Given the description of an element on the screen output the (x, y) to click on. 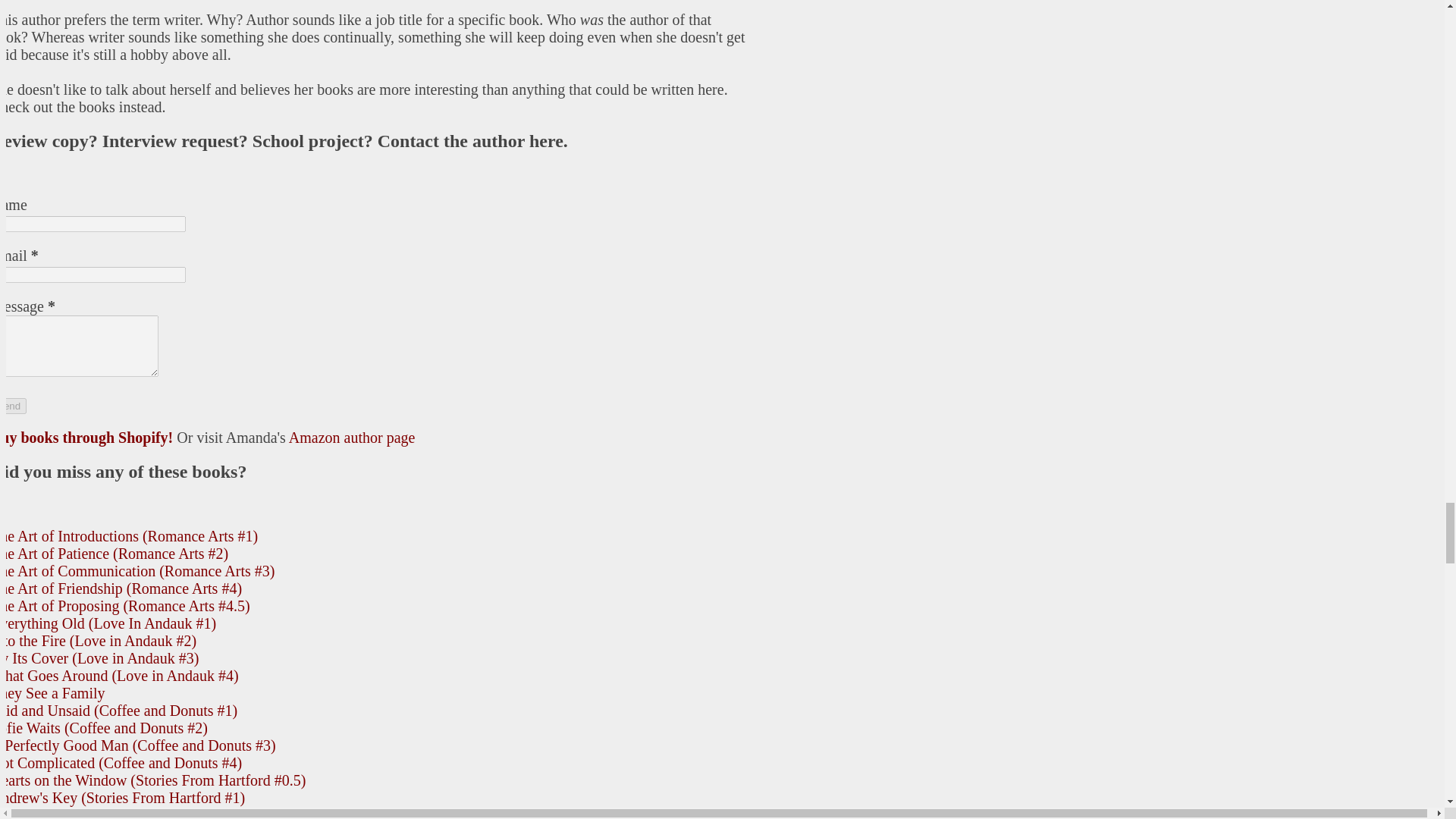
Send (13, 406)
